Given the description of an element on the screen output the (x, y) to click on. 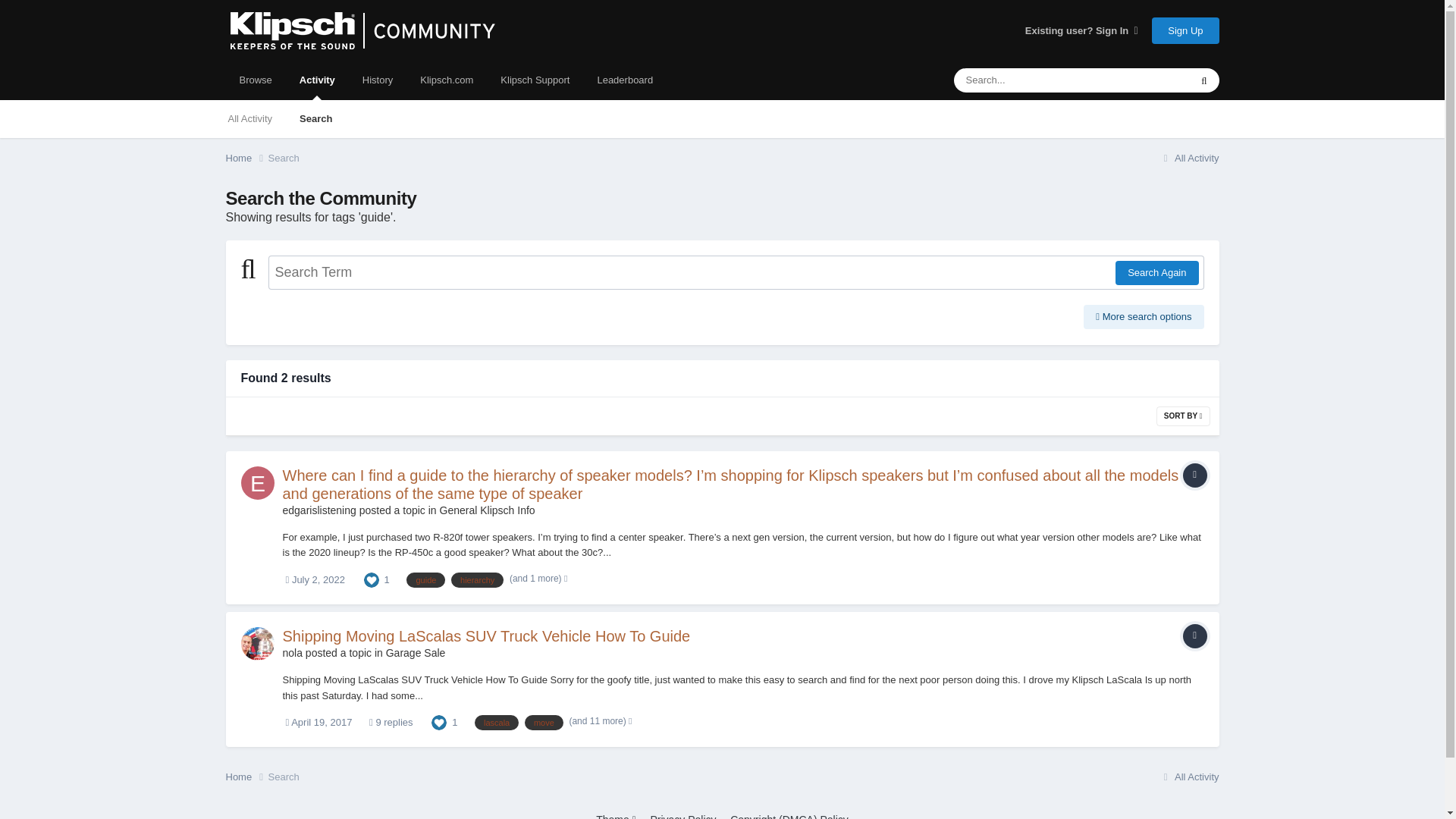
Like (438, 721)
Search (315, 118)
Search (283, 157)
Browse (255, 79)
Leaderboard (624, 79)
Klipsch.com (446, 79)
History (377, 79)
Sign Up (1184, 29)
Go to nola's profile (291, 653)
Home (246, 158)
Topic (1194, 475)
All Activity (1188, 157)
More search options (1143, 316)
Klipsch Support (534, 79)
All Activity (249, 118)
